Given the description of an element on the screen output the (x, y) to click on. 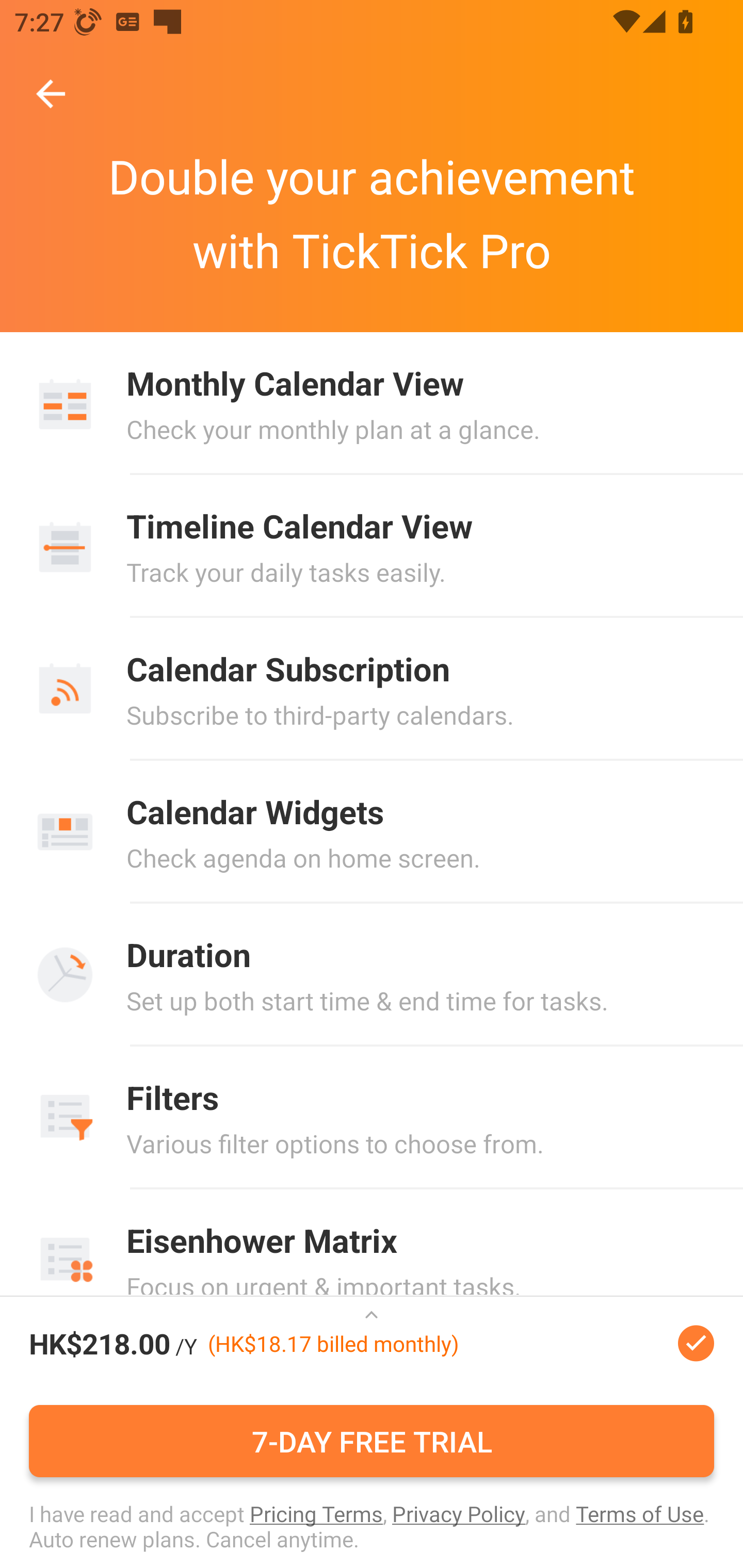
Calendar Widgets Check agenda on home screen. (371, 831)
Filters Various filter options to choose from. (371, 1117)
HK$218.00 /Y (HK$18.17 billed monthly)  (371, 1343)
 (371, 1328)
7-DAY FREE TRIAL (371, 1440)
